Given the description of an element on the screen output the (x, y) to click on. 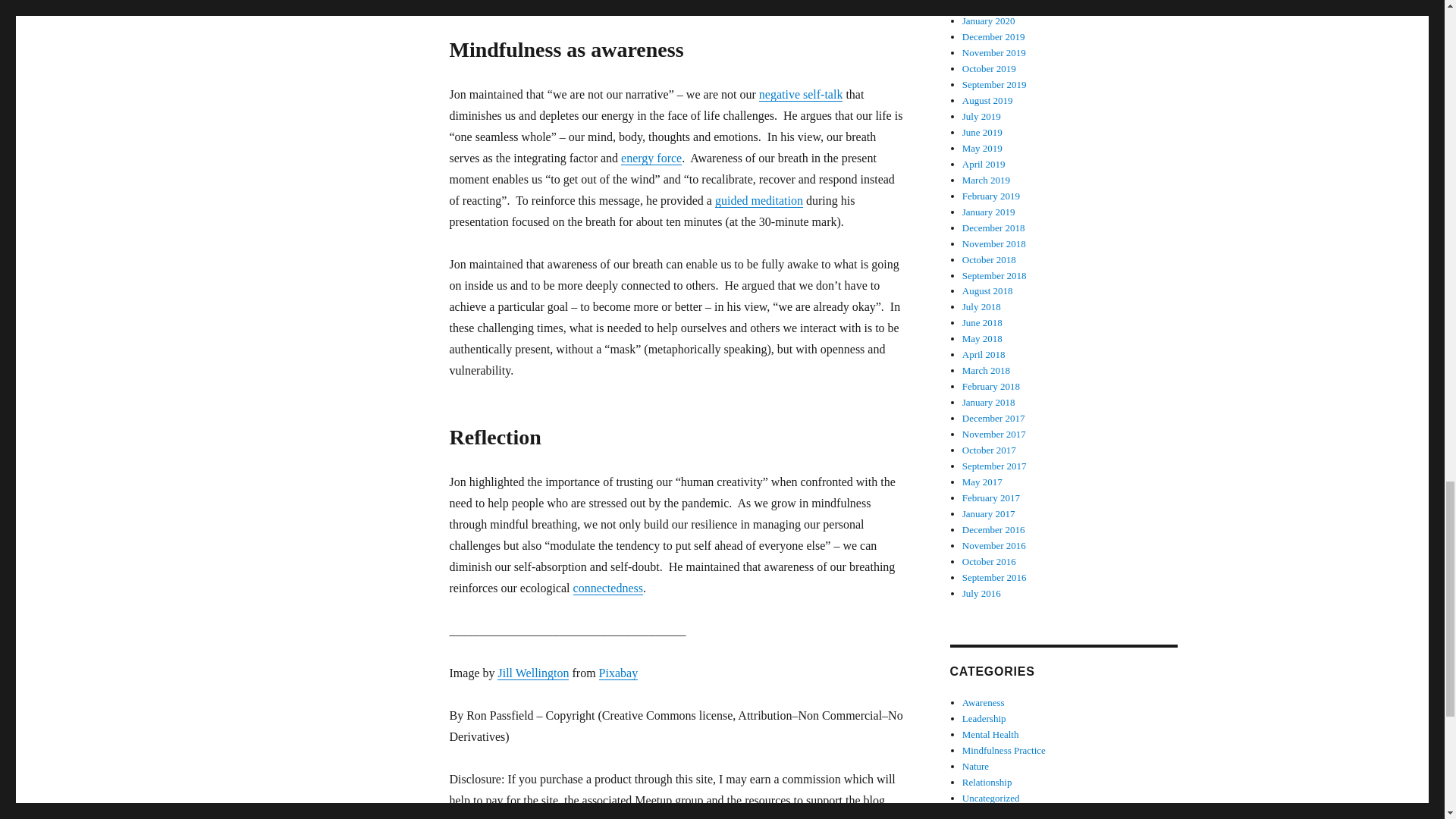
negative self-talk (800, 93)
Jill Wellington (533, 672)
connectedness (608, 587)
guided meditation (758, 200)
energy force (651, 157)
Pixabay (618, 672)
